Given the description of an element on the screen output the (x, y) to click on. 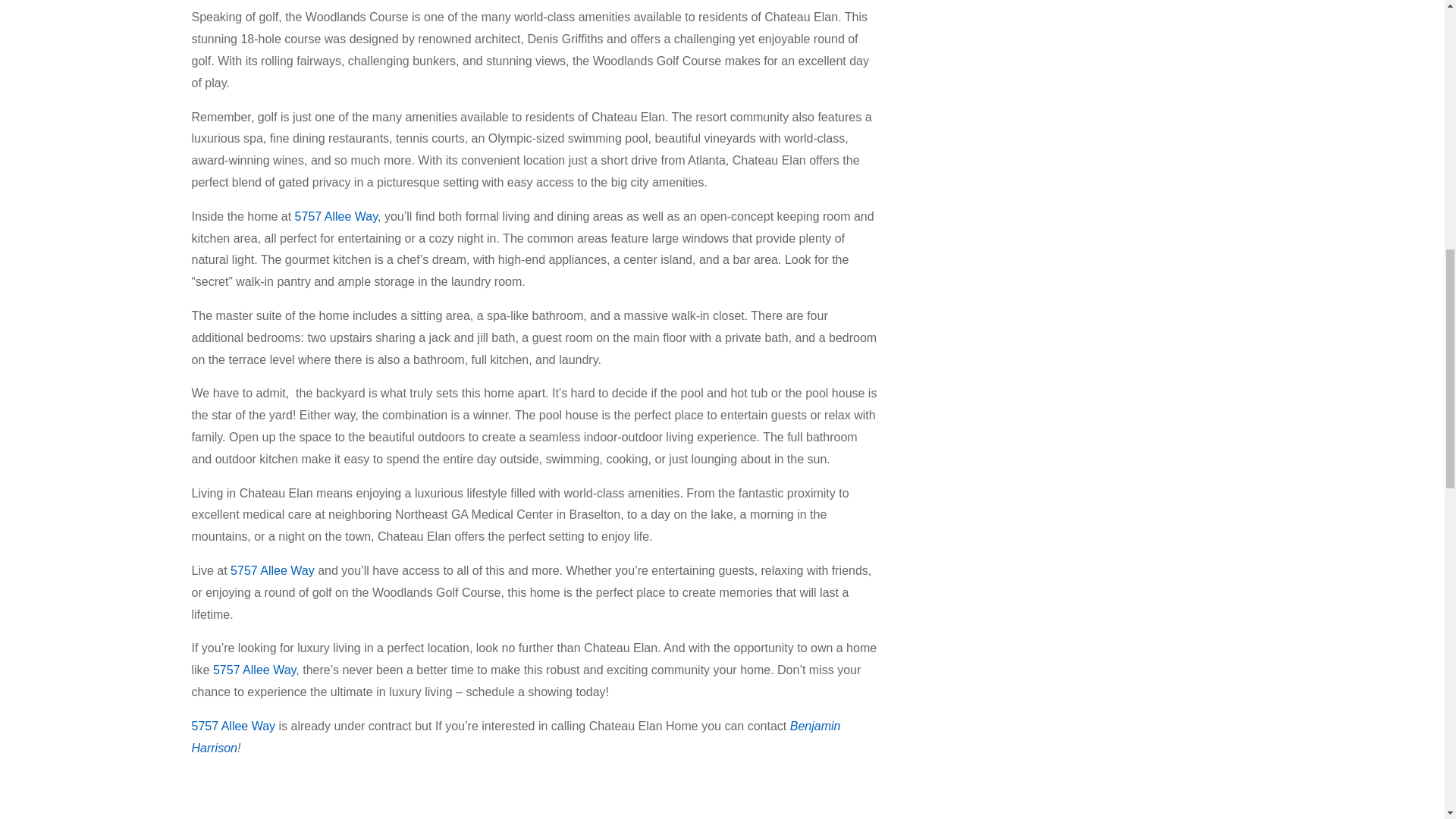
5757 Allee Way (232, 725)
5757 Allee Way (336, 215)
Benjamin Harrison (515, 736)
5757 Allee Way (272, 570)
5757 Allee Way (253, 669)
